Given the description of an element on the screen output the (x, y) to click on. 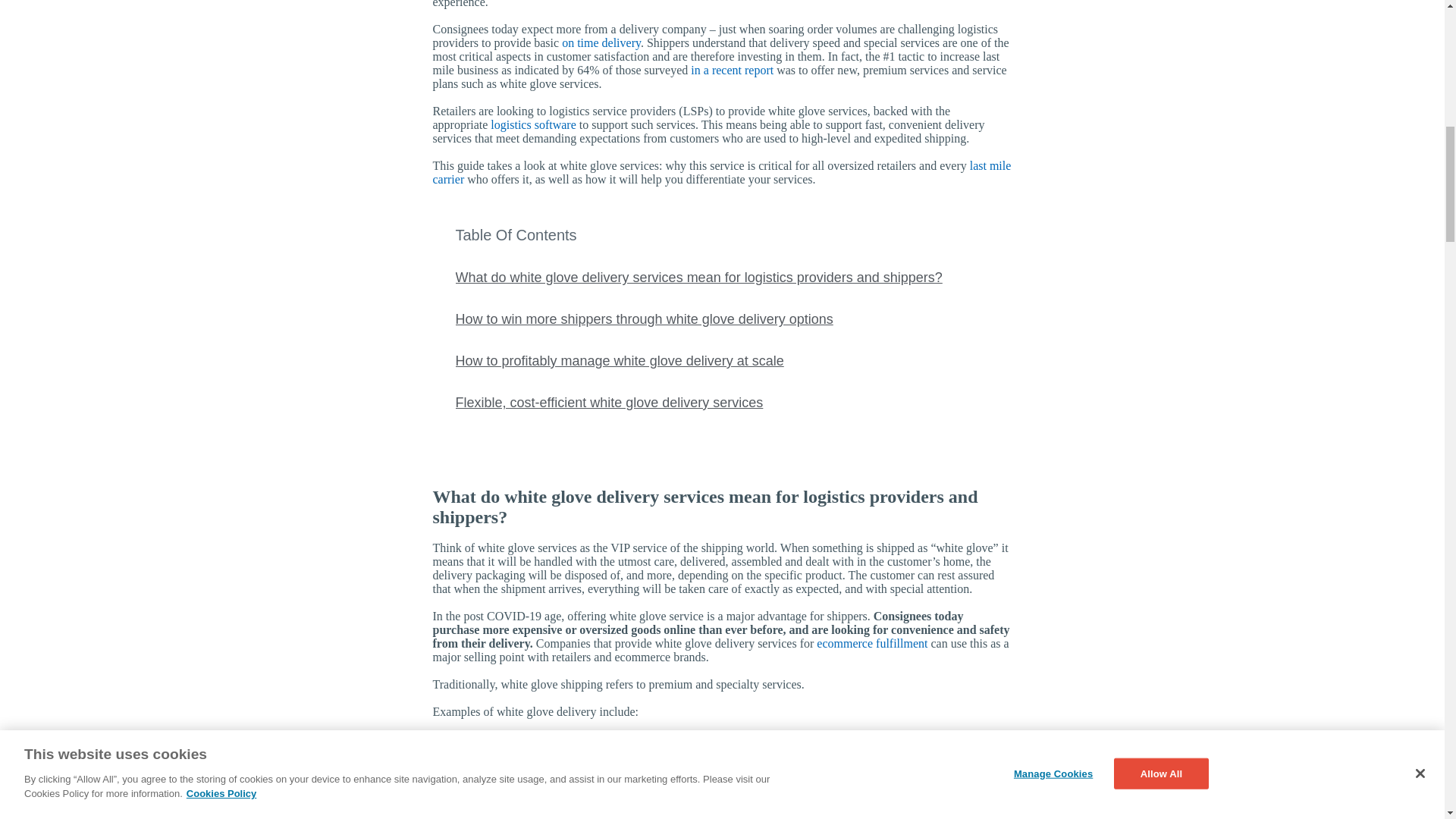
logistics software (532, 124)
on time delivery (601, 42)
last mile carrier (721, 171)
How to profitably manage white glove delivery at scale (618, 360)
in a recent report (731, 69)
